Given the description of an element on the screen output the (x, y) to click on. 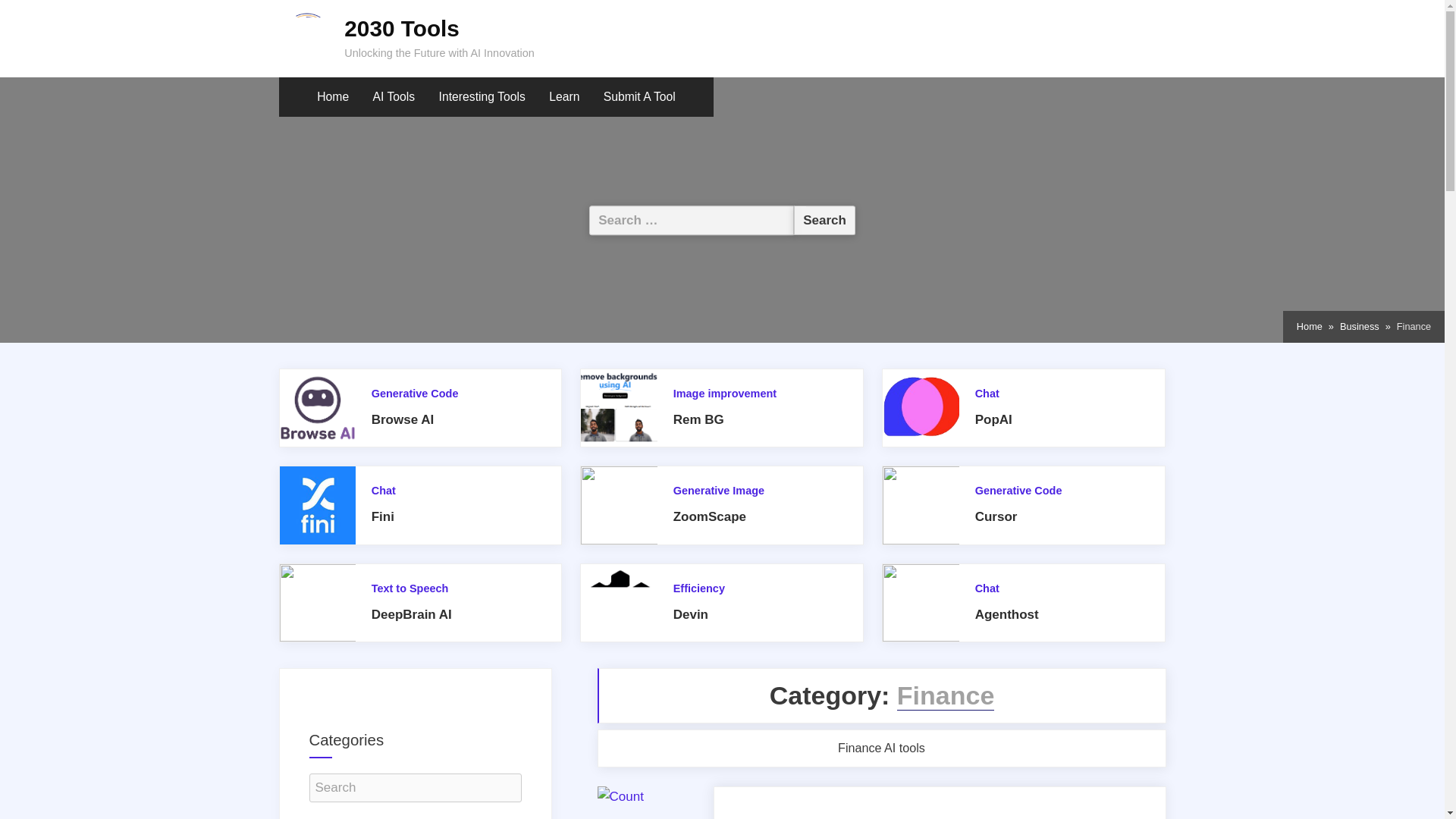
2030 Tools (401, 27)
Submit A Tool (639, 97)
Chat (383, 490)
Home (1309, 326)
Agenthost (1007, 614)
Chat (986, 588)
AI Tools (394, 97)
Chat (986, 393)
Search (824, 220)
Cursor (996, 516)
Text to Speech (409, 588)
Rem BG (697, 419)
Learn (564, 97)
ZoomScape (708, 516)
Generative Image (718, 490)
